Given the description of an element on the screen output the (x, y) to click on. 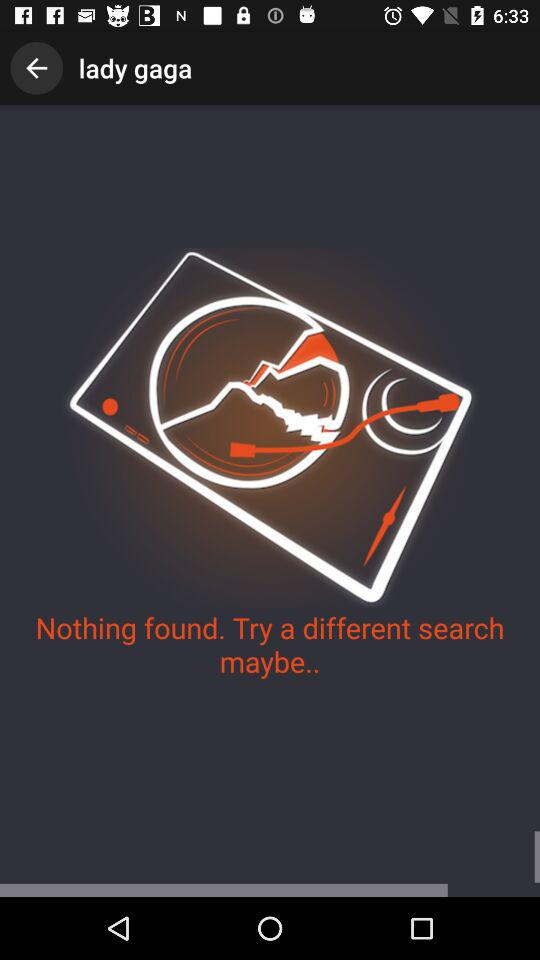
click the item next to lady gaga icon (36, 68)
